Given the description of an element on the screen output the (x, y) to click on. 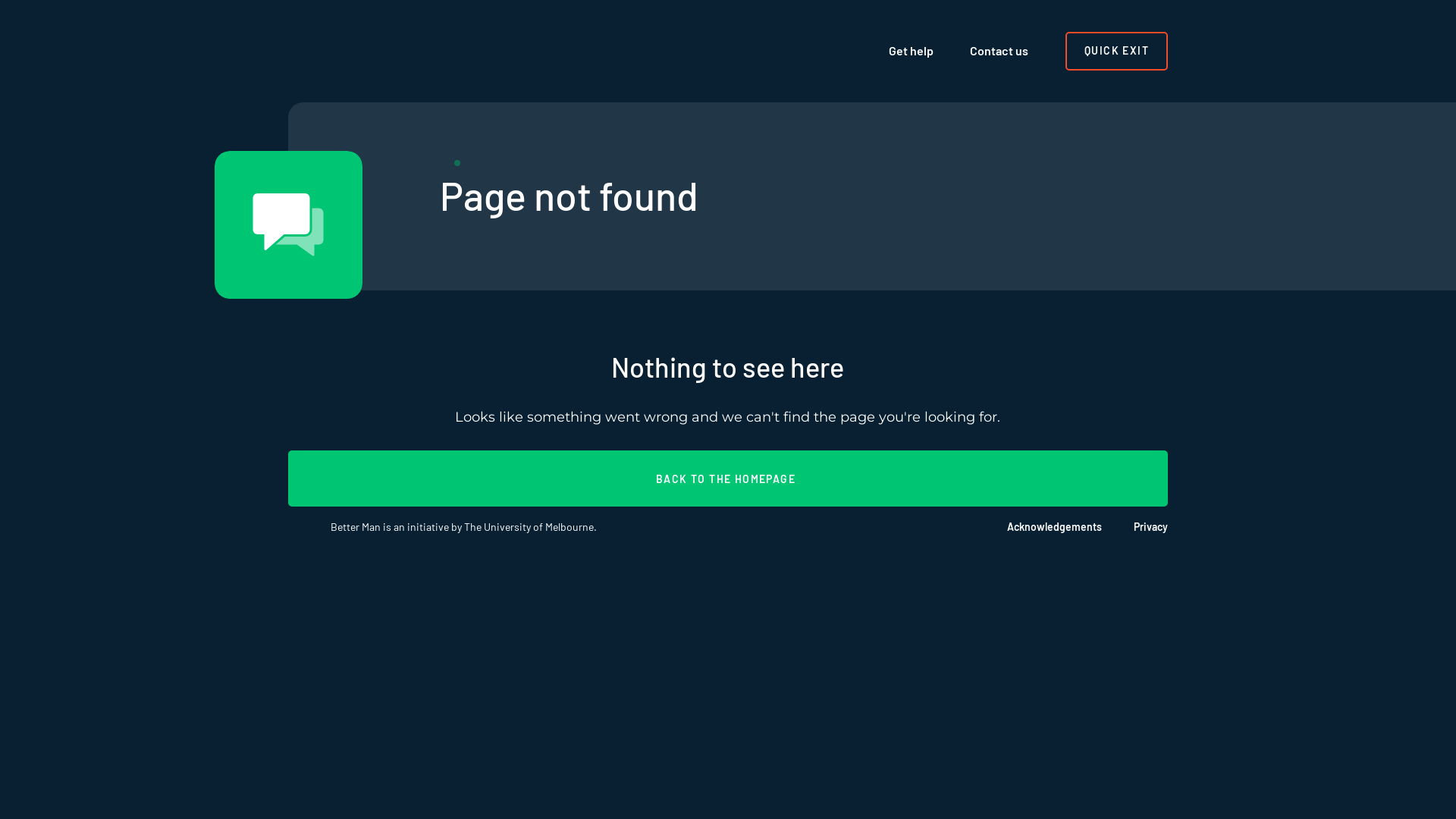
QUICK EXIT Element type: text (1116, 50)
Acknowledgements Element type: text (1038, 526)
Get help Element type: text (910, 50)
Privacy Element type: text (1134, 526)
BACK TO THE HOMEPAGE Element type: text (727, 478)
Contact us Element type: text (998, 50)
